Given the description of an element on the screen output the (x, y) to click on. 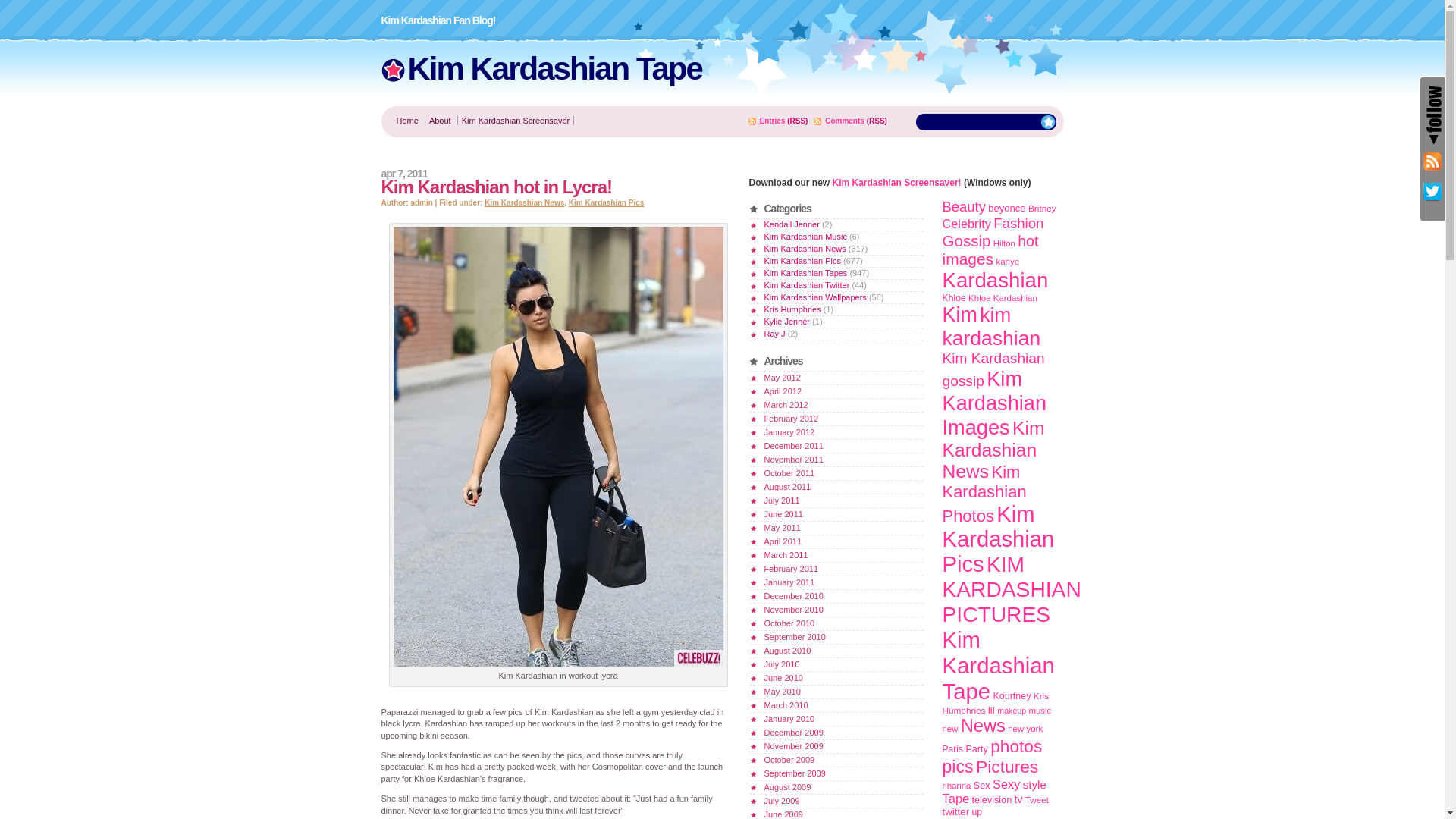
Kim Kardashian News (524, 203)
Kim Kardashian hot in Lycra! (495, 186)
Home (406, 120)
Comments (844, 121)
Entries (773, 121)
View all posts in Kim Kardashian Pics (606, 203)
About (440, 120)
Kim Kardashian Pics (606, 203)
Permanent Link to Kim Kardashian hot in Lycra! (495, 186)
About (440, 120)
